Given the description of an element on the screen output the (x, y) to click on. 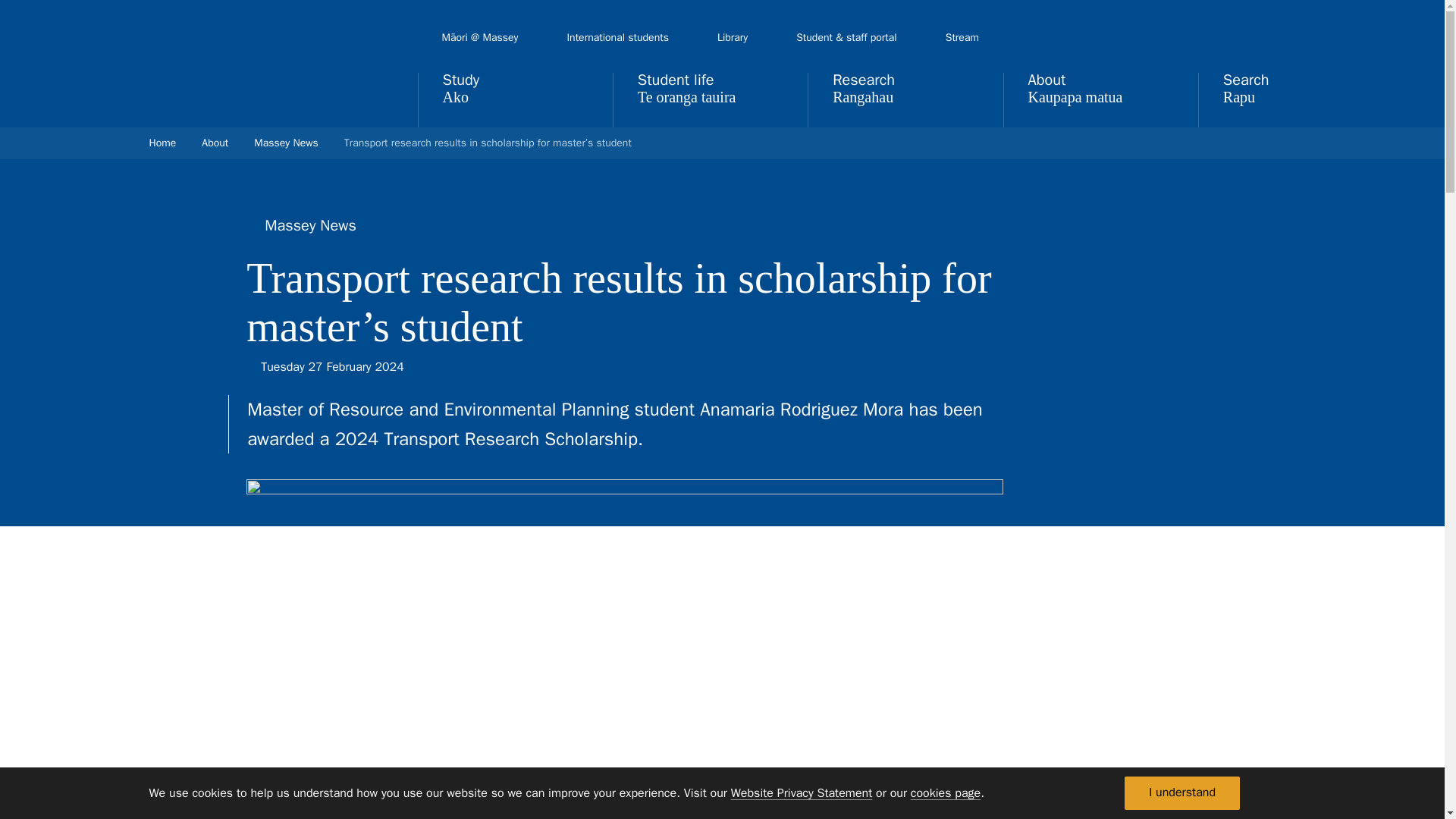
Library (732, 37)
Stream (961, 37)
International students (617, 37)
I understand (1182, 792)
cookies page (945, 792)
Website Privacy Statement (801, 792)
